Given the description of an element on the screen output the (x, y) to click on. 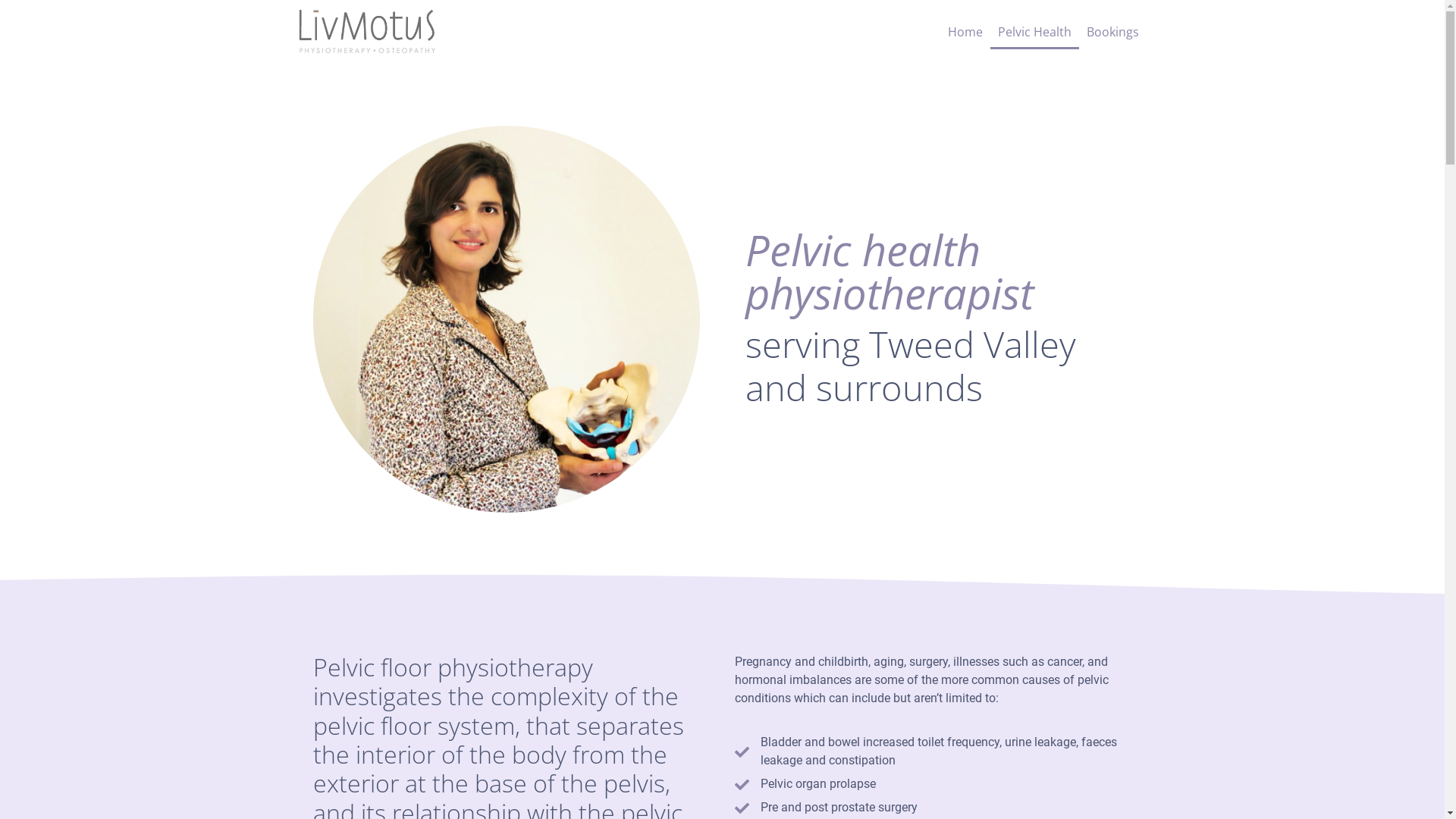
Pelvic Health Element type: text (1034, 31)
Bookings Element type: text (1112, 31)
Home Element type: text (965, 31)
